Given the description of an element on the screen output the (x, y) to click on. 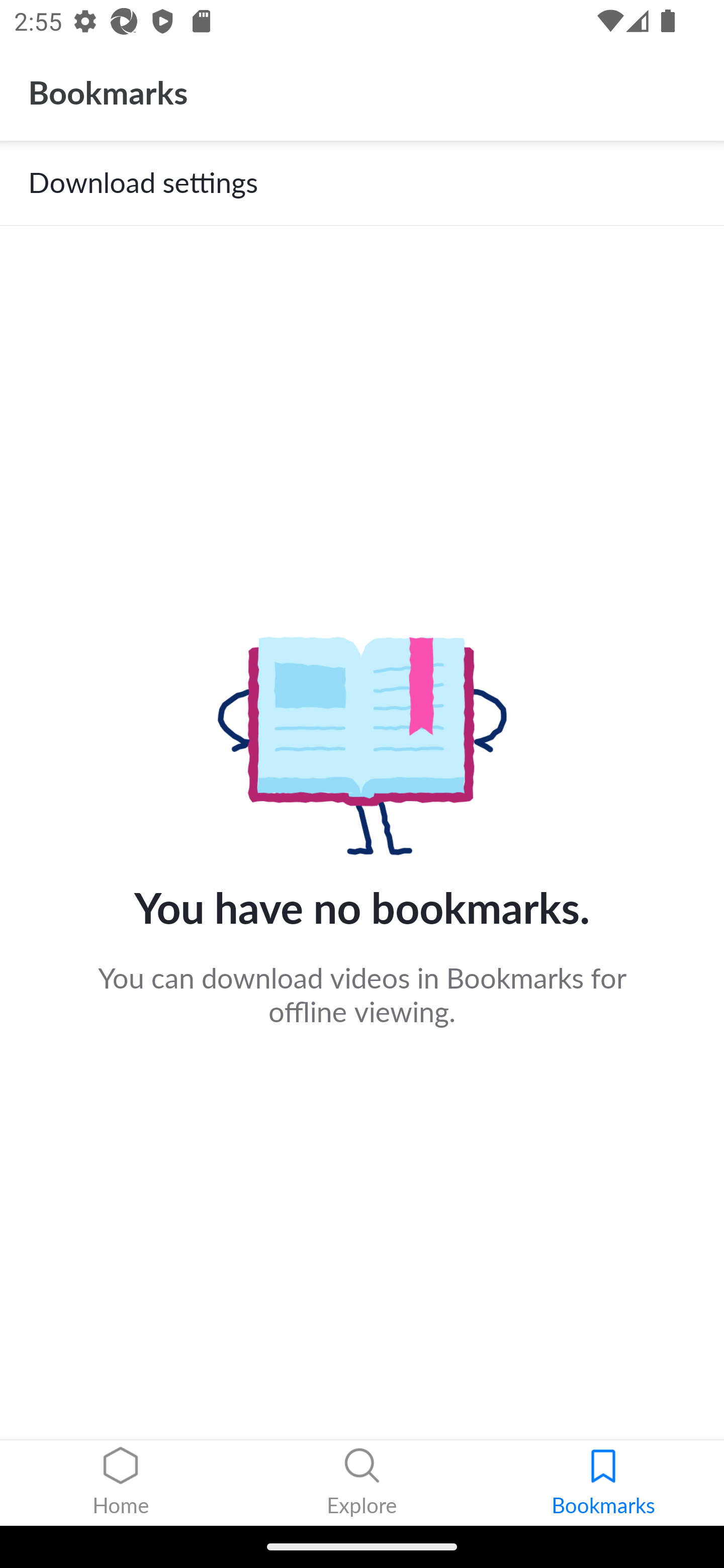
Download settings (362, 183)
Home (120, 1482)
Explore (361, 1482)
Bookmarks (603, 1482)
